Given the description of an element on the screen output the (x, y) to click on. 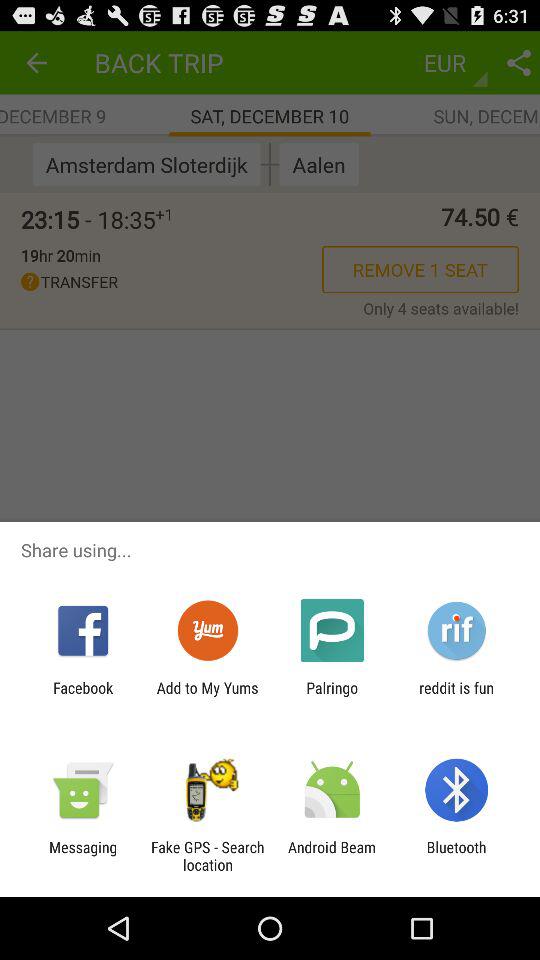
launch icon to the right of palringo icon (456, 696)
